Given the description of an element on the screen output the (x, y) to click on. 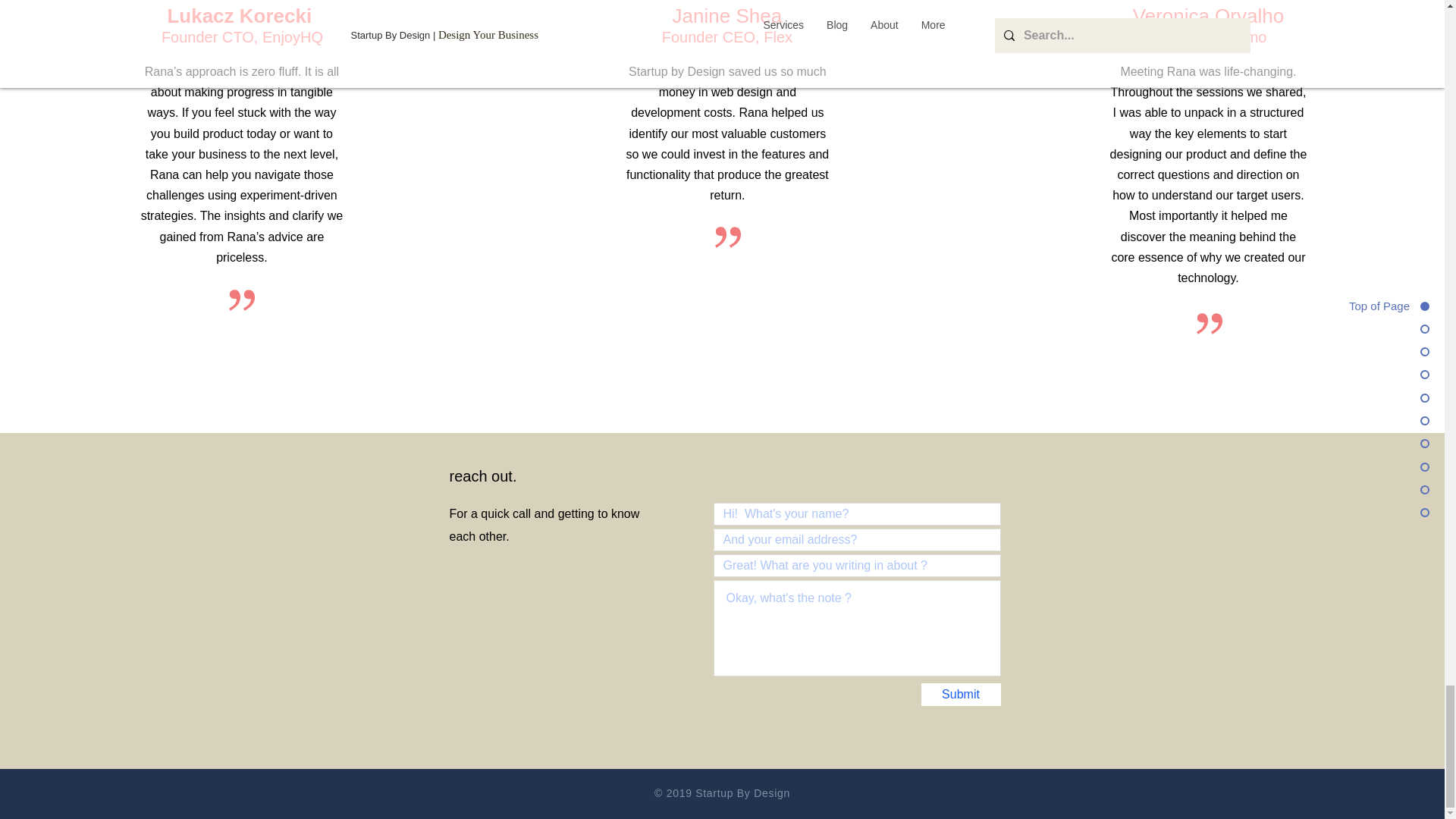
EnjoyHQ (292, 36)
Submit (960, 694)
Flex (777, 36)
Didimo (1243, 36)
